Given the description of an element on the screen output the (x, y) to click on. 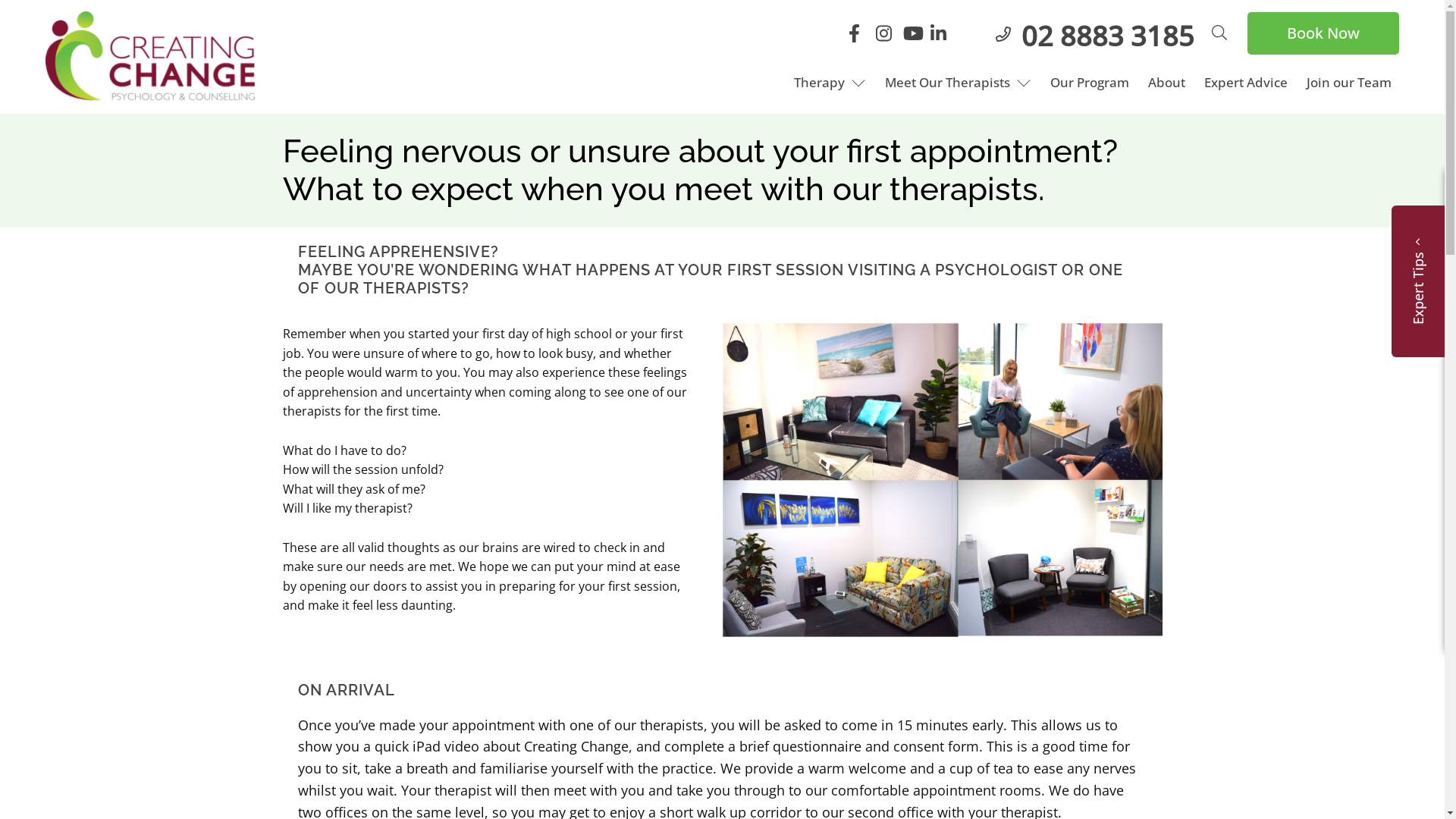
About Element type: text (1166, 82)
Join us on LinkedIn Element type: hover (941, 35)
Follow our Youtube channel Element type: hover (914, 35)
02 8883 3185 Element type: text (1107, 34)
Meet Our Therapists Element type: text (957, 82)
Expert Advice Element type: text (1245, 82)
Our Program Element type: text (1089, 82)
Follow us on Instagram Element type: hover (886, 35)
Join our Team Element type: text (1349, 82)
Therapy Element type: text (829, 82)
Like us on Facebook Element type: hover (859, 35)
Book Now Element type: text (1323, 33)
Search Element type: text (11, 11)
